Given the description of an element on the screen output the (x, y) to click on. 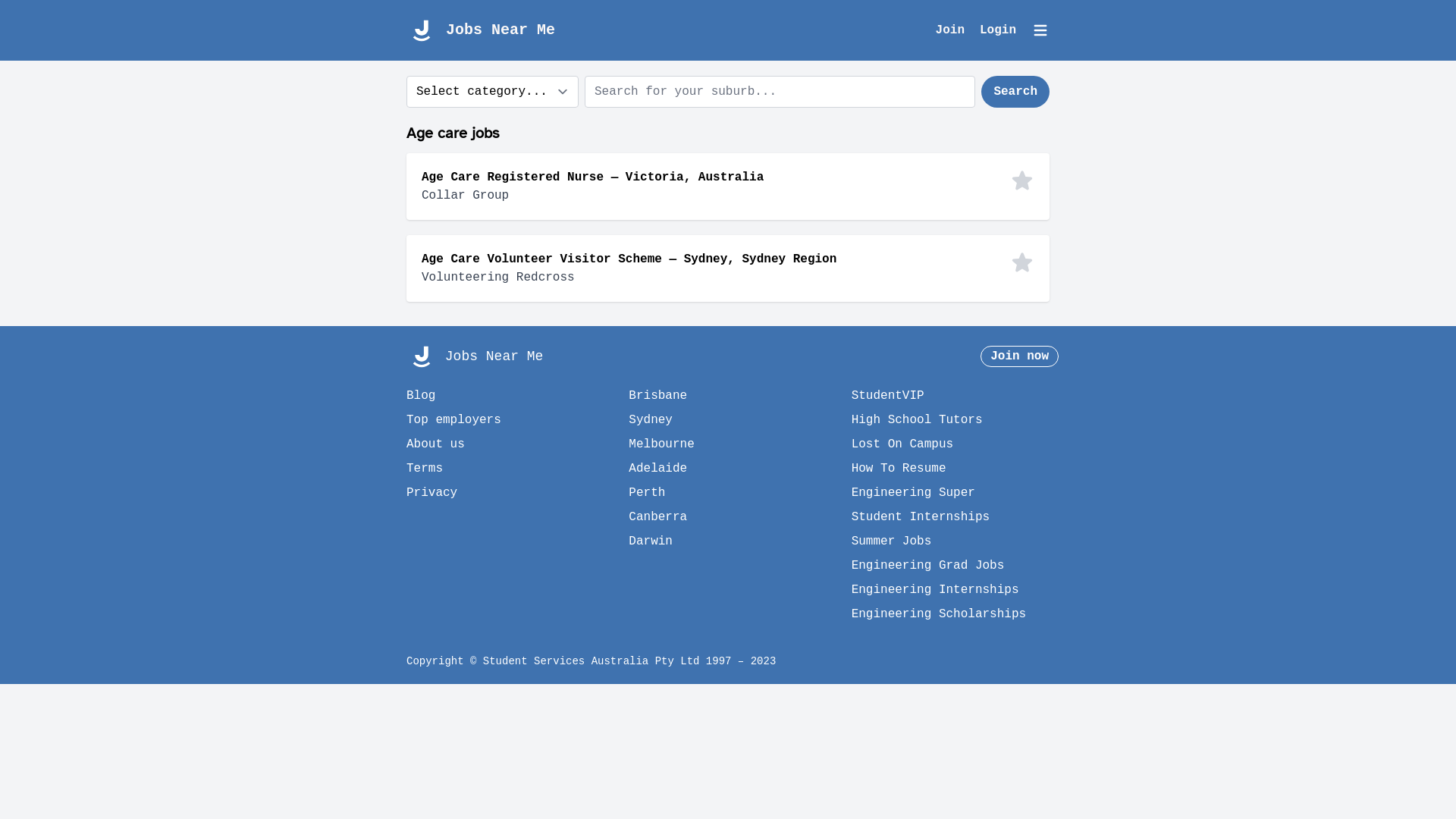
Darwin Element type: text (650, 541)
Engineering Scholarships Element type: text (938, 614)
Privacy Element type: text (431, 492)
Perth Element type: text (646, 492)
Top employers Element type: text (453, 419)
Student Internships Element type: text (920, 517)
Join Element type: text (957, 30)
Summer Jobs Element type: text (891, 541)
How To Resume Element type: text (898, 468)
Search Element type: text (1015, 91)
Melbourne Element type: text (660, 444)
Engineering Grad Jobs Element type: text (927, 565)
High School Tutors Element type: text (916, 419)
Adelaide Element type: text (657, 468)
Lost On Campus Element type: text (902, 444)
StudentVIP Element type: text (887, 395)
Sydney Element type: text (650, 419)
About us Element type: text (435, 444)
Engineering Internships Element type: text (935, 589)
Engineering Super Element type: text (913, 492)
Terms Element type: text (424, 468)
Join now Element type: text (1019, 356)
Canberra Element type: text (657, 517)
Jobs Near Me Element type: text (480, 29)
Blog Element type: text (420, 395)
Login Element type: text (1005, 30)
Brisbane Element type: text (657, 395)
